Given the description of an element on the screen output the (x, y) to click on. 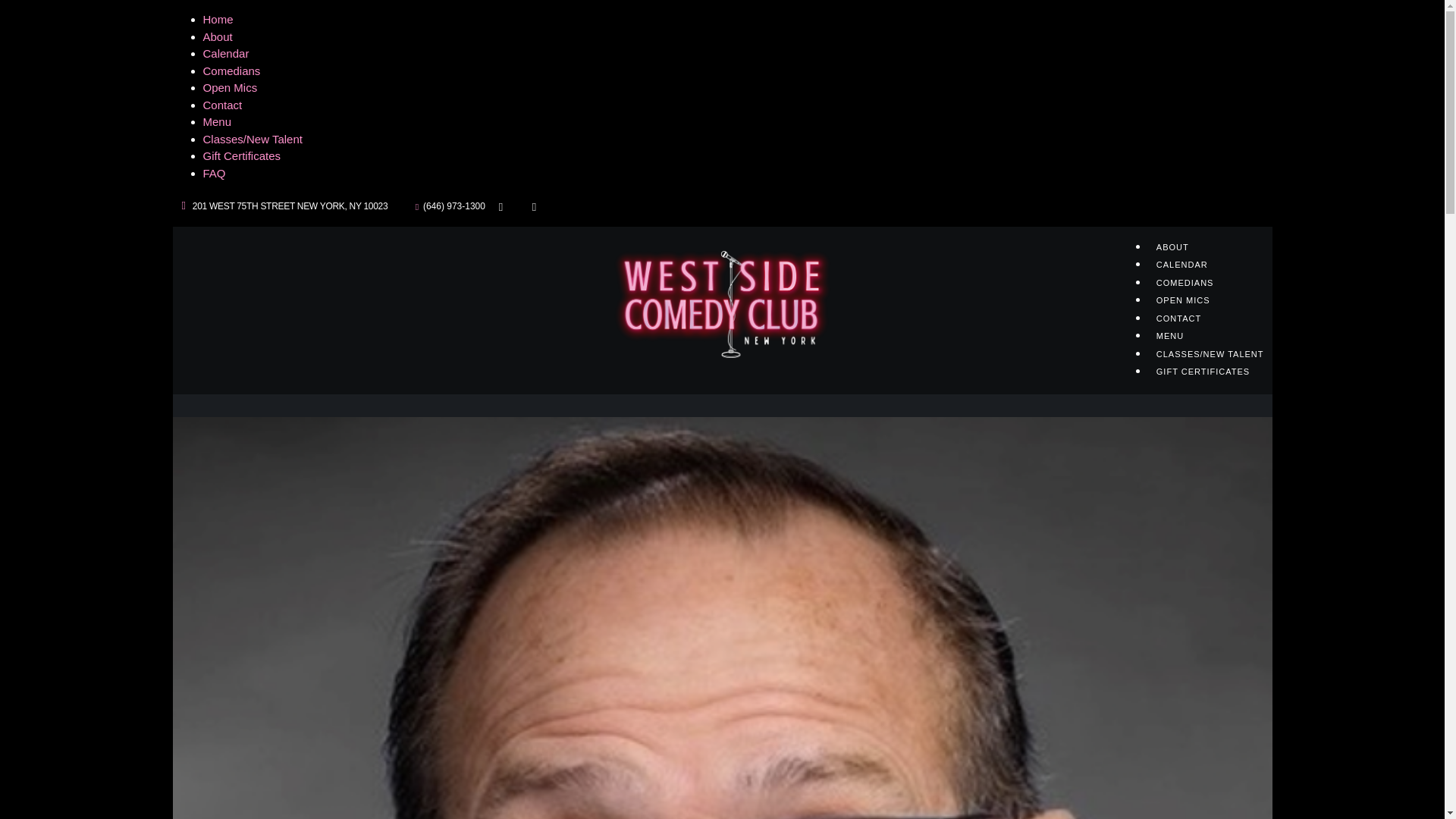
ABOUT (1172, 244)
Contact (223, 104)
CONTACT (1178, 316)
Menu (217, 121)
CALENDAR (1181, 262)
Home (217, 19)
About (217, 36)
COMEDIANS (1185, 280)
Calendar (225, 52)
GIFT CERTIFICATES (1202, 369)
MENU (1170, 334)
OPEN MICS (1183, 298)
Comedians (231, 69)
Gift Certificates (242, 155)
